Given the description of an element on the screen output the (x, y) to click on. 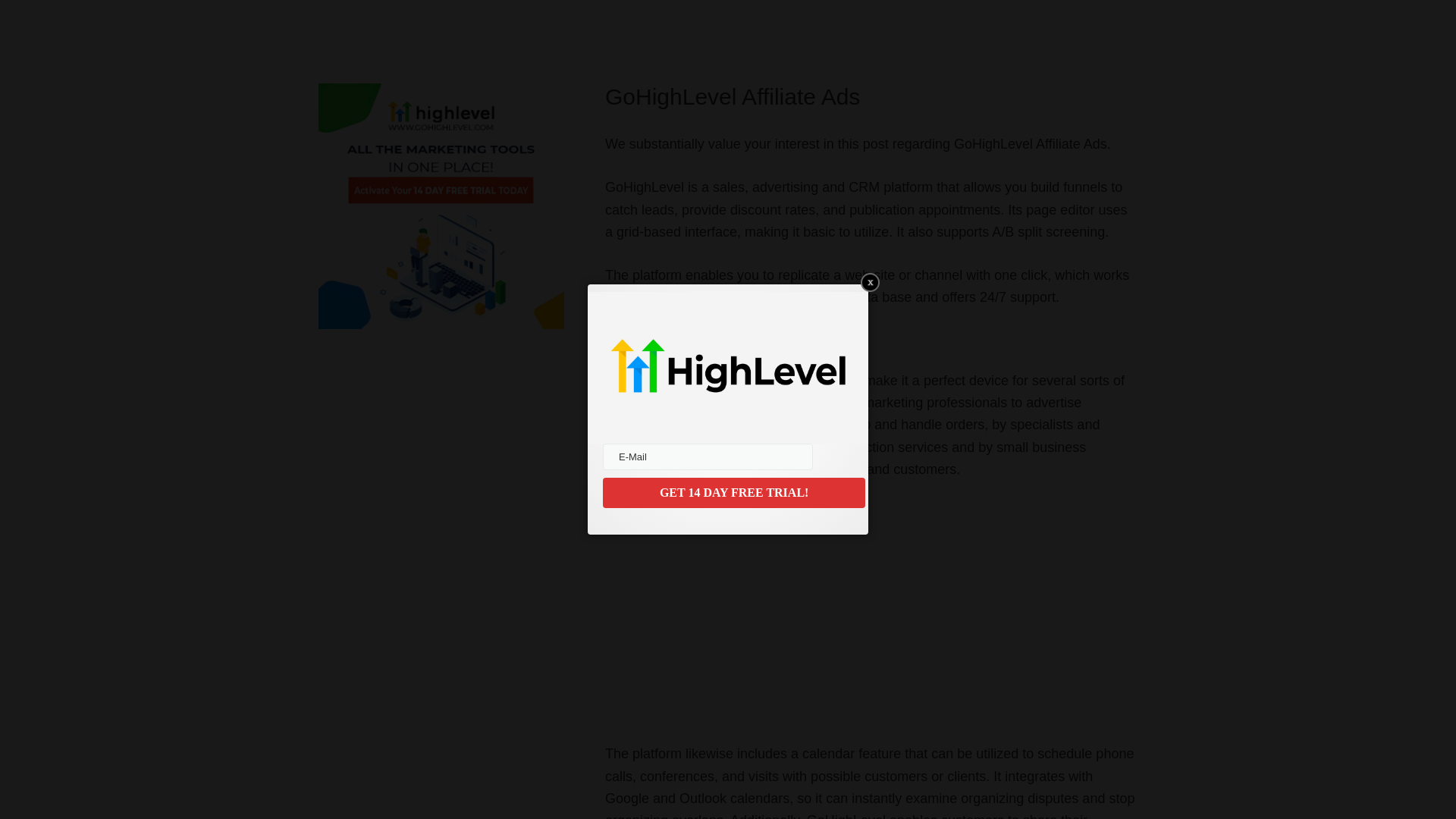
Welcome To HighLevel (794, 608)
GET 14 DAY FREE TRIAL! (733, 492)
GET 14 DAY FREE TRIAL! (733, 492)
